Given the description of an element on the screen output the (x, y) to click on. 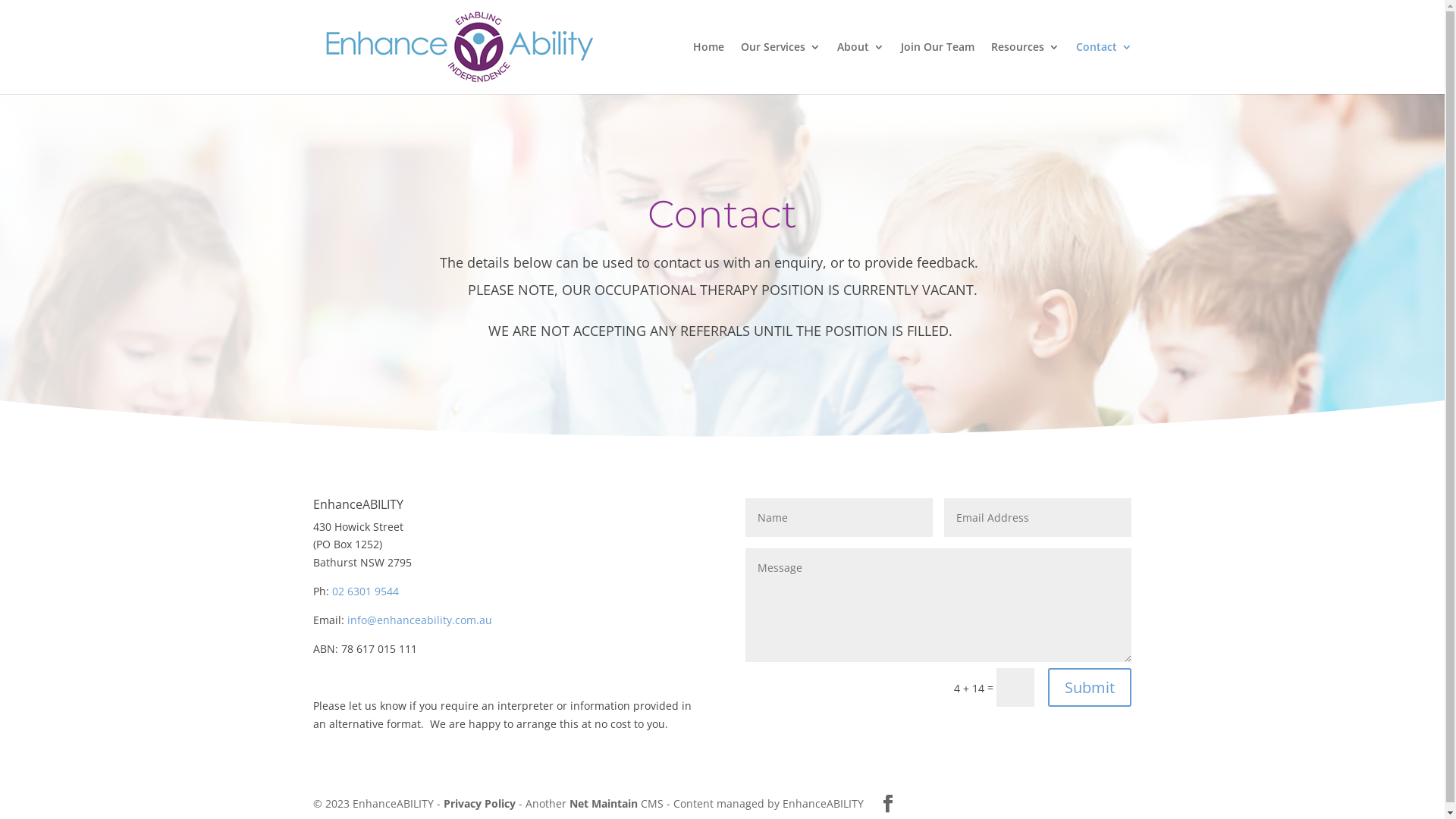
Home Element type: text (708, 67)
Net Maintain Element type: text (602, 803)
02 6301 9544 Element type: text (365, 590)
About Element type: text (860, 67)
Our Services Element type: text (779, 67)
info@enhanceability.com.au Element type: text (419, 619)
Resources Element type: text (1024, 67)
Privacy Policy Element type: text (478, 803)
Contact Element type: text (1103, 67)
Submit Element type: text (1089, 687)
Join Our Team Element type: text (937, 67)
